Given the description of an element on the screen output the (x, y) to click on. 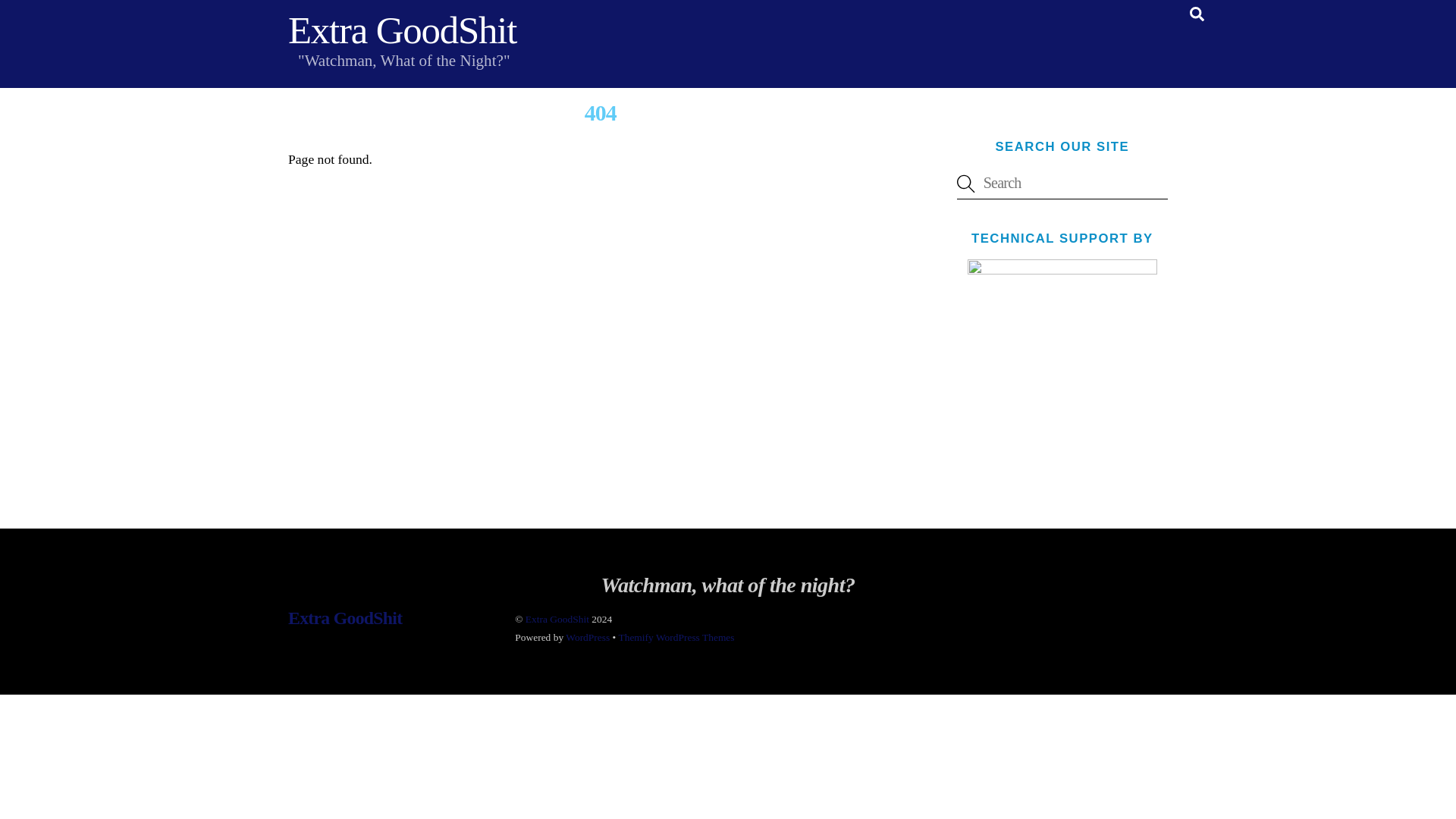
Extra GoodShit (344, 618)
Extra GoodShit (344, 618)
Extra GoodShit (402, 30)
WordPress (588, 636)
Search (1061, 183)
Extra GoodShit (402, 30)
Extra GoodShit (557, 618)
Themify WordPress Themes (675, 636)
Search (1196, 14)
